Given the description of an element on the screen output the (x, y) to click on. 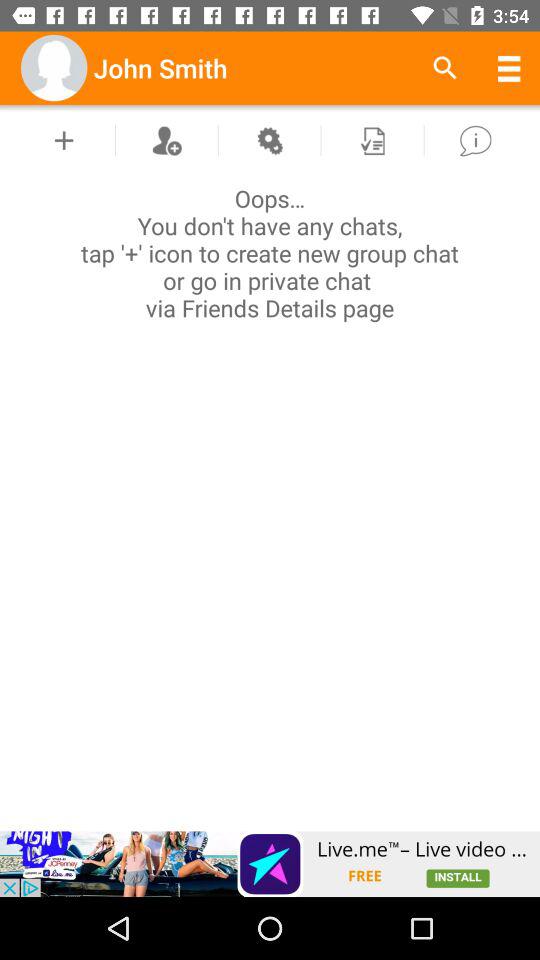
view options (269, 140)
